Given the description of an element on the screen output the (x, y) to click on. 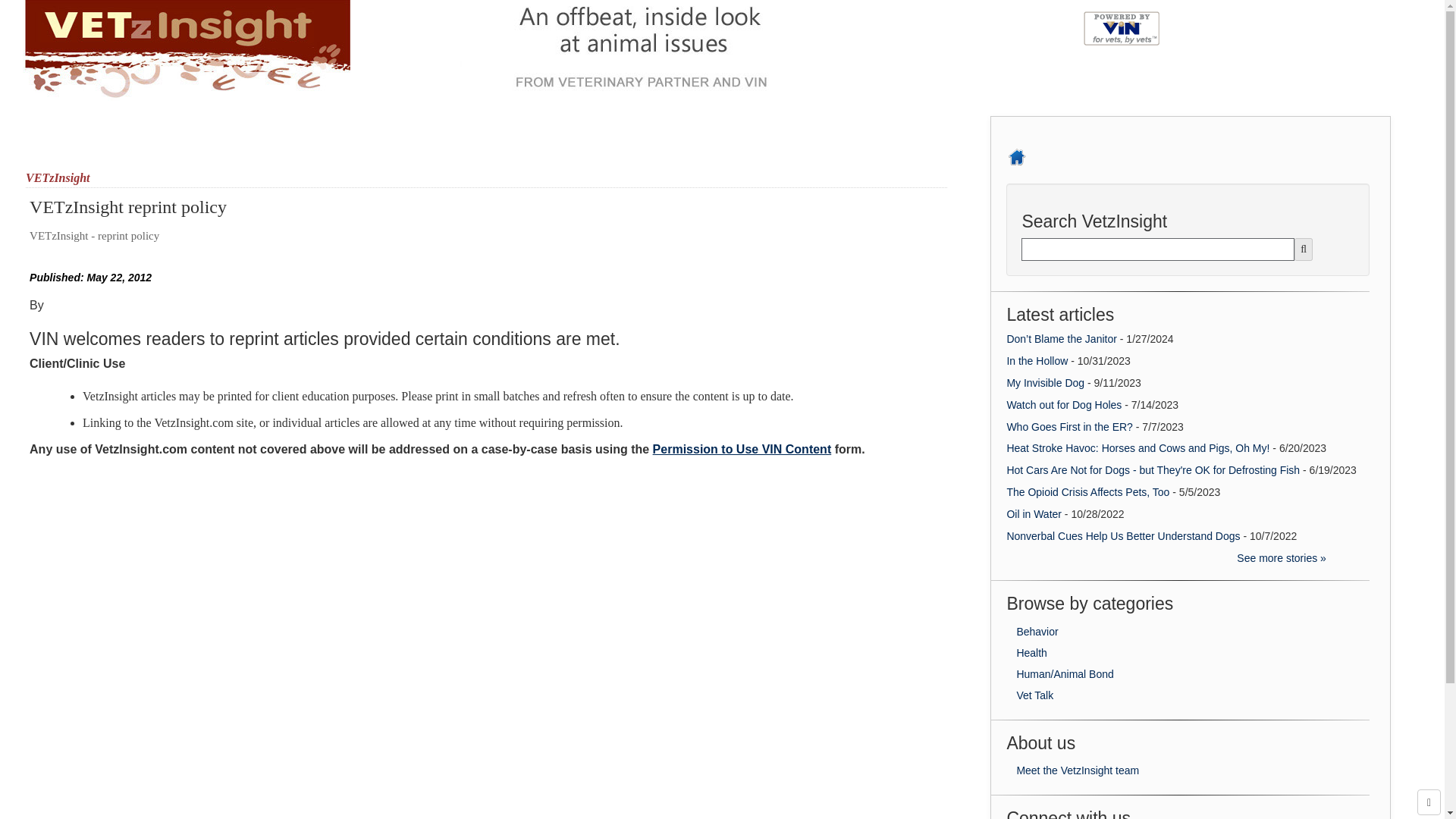
In the Hollow (1036, 360)
Behavior (1037, 631)
The Opioid Crisis Affects Pets, Too (1087, 491)
Heat Stroke Havoc: Horses and Cows and Pigs, Oh My! (1137, 448)
Permission to Use VIN Content (741, 449)
Oil in Water (1033, 513)
Who Goes First in the ER? (1070, 426)
My Invisible Dog (1046, 382)
Nonverbal Cues Help Us Better Understand Dogs (1123, 535)
Meet the VetzInsight team (1077, 770)
Vet Talk (1034, 695)
Health (1031, 653)
VNS home (1016, 149)
Watch out for Dog Holes (1063, 404)
